Given the description of an element on the screen output the (x, y) to click on. 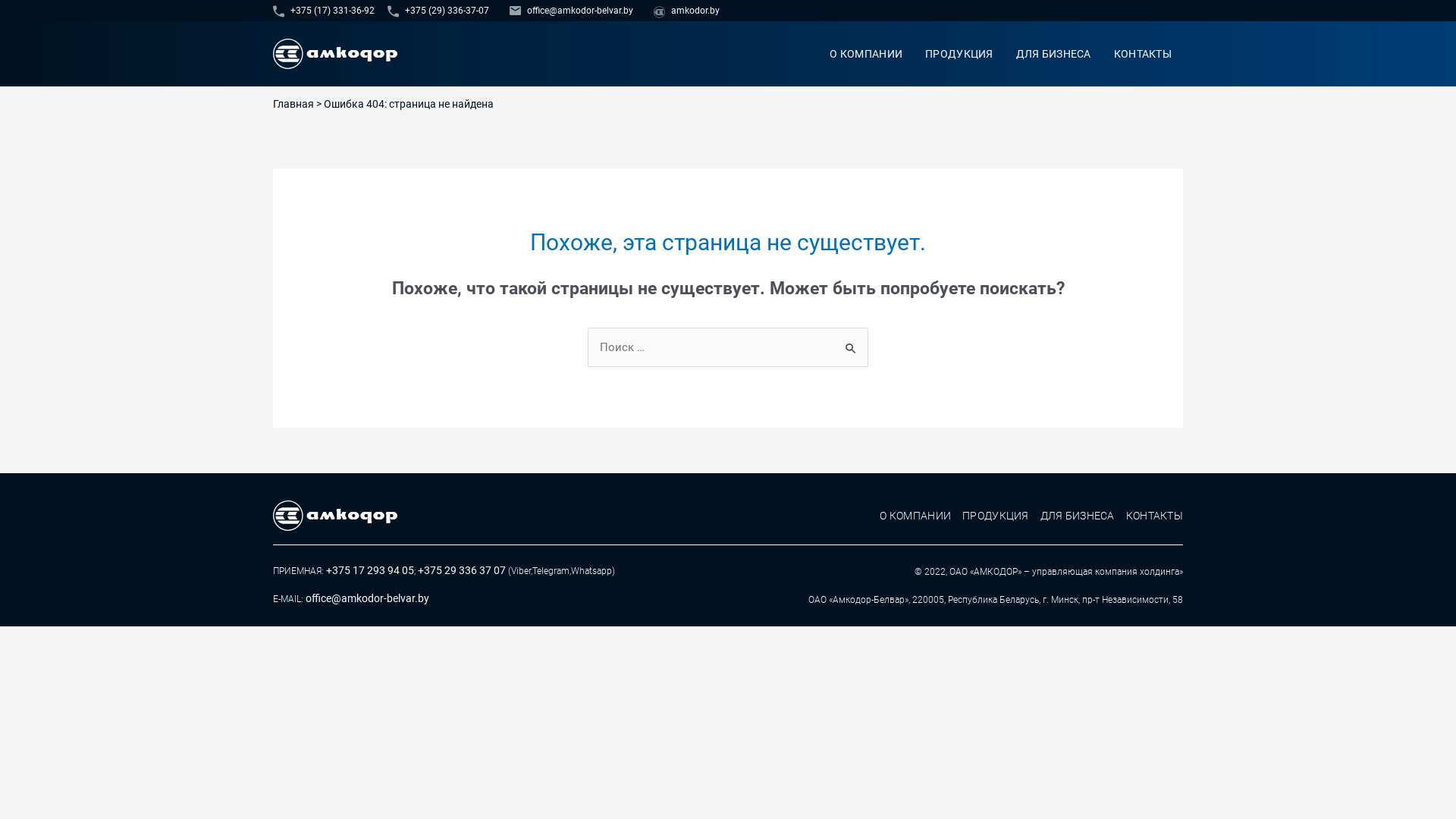
+375 17 293 94 05 Element type: text (370, 570)
office@amkodor-belvar.by Element type: text (367, 598)
+375 (17) 331-36-92 Element type: text (330, 10)
+375 (29) 336-37-07 Element type: text (444, 10)
+375 29 336 37 07 Element type: text (461, 570)
office@amkodor-belvar.by Element type: text (577, 10)
amkodor.by Element type: text (686, 10)
